Given the description of an element on the screen output the (x, y) to click on. 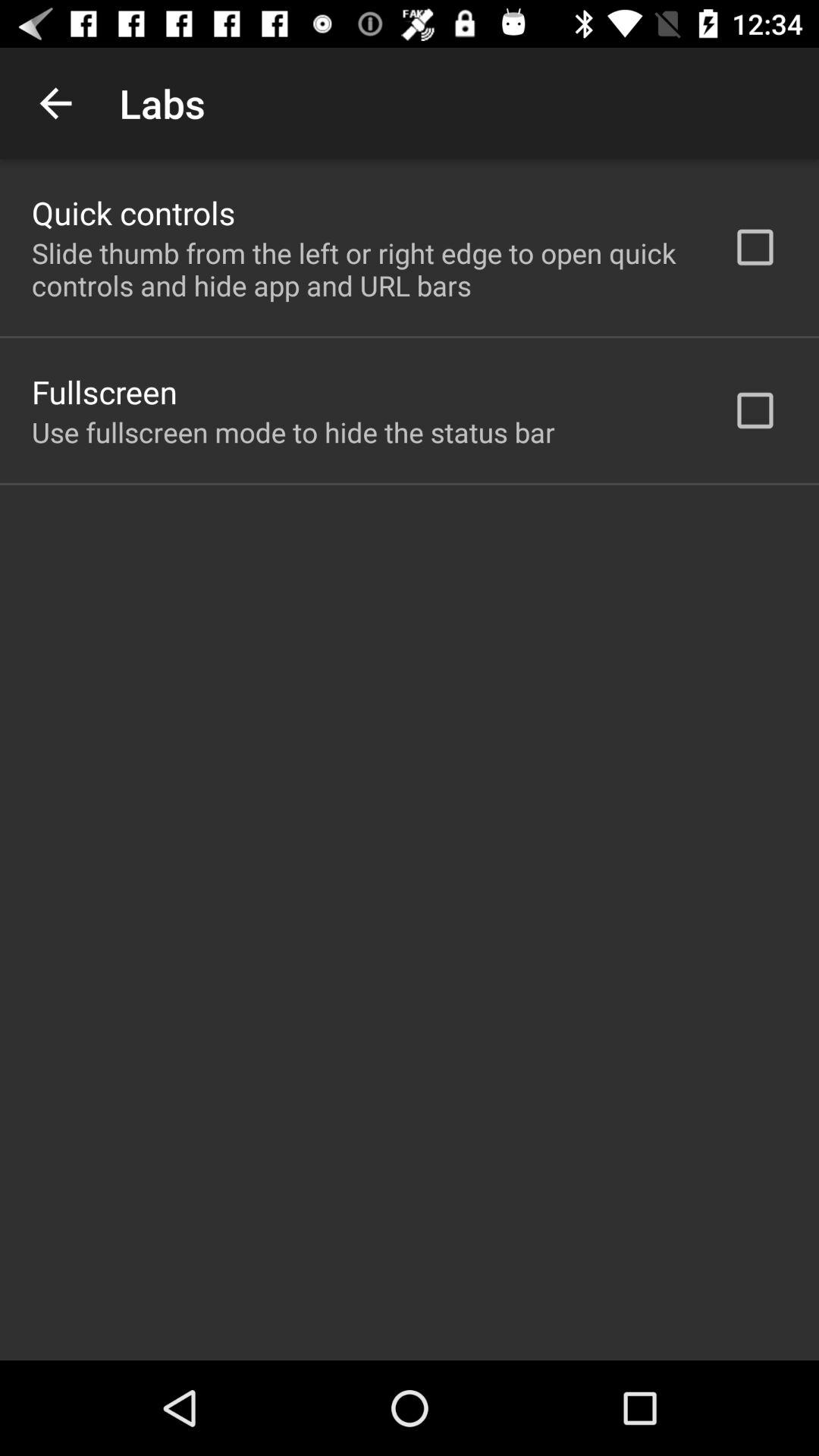
jump until the slide thumb from (361, 269)
